Given the description of an element on the screen output the (x, y) to click on. 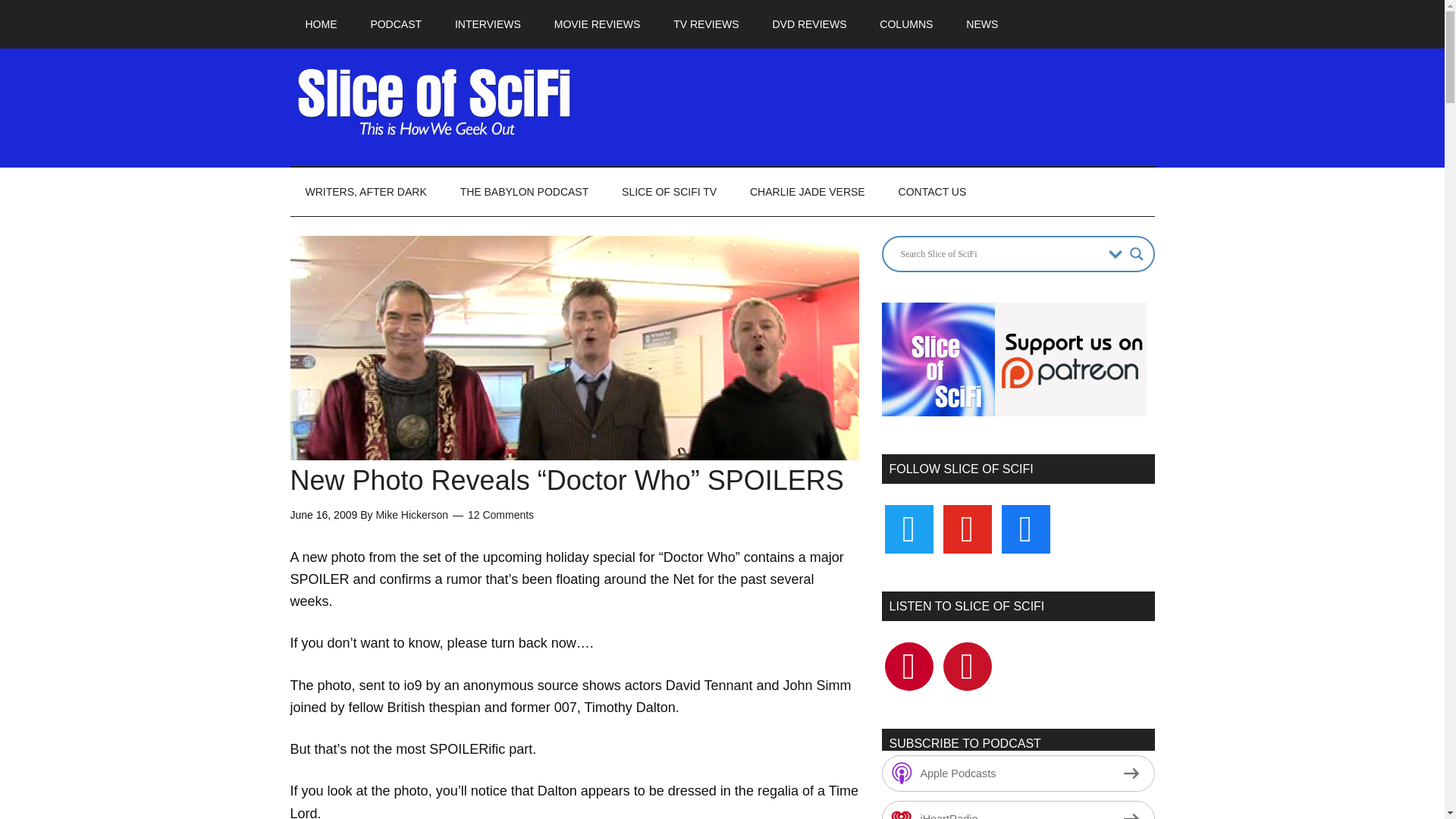
Twitter (967, 665)
HOME (320, 24)
CONTACT US (932, 191)
Posts by Mike Hickerson (411, 514)
Slice of SciFi (433, 101)
Subscribe on Apple Podcasts (1017, 773)
Twitter (908, 527)
Facebook (908, 665)
NEWS (981, 24)
12 Comments (500, 514)
